Given the description of an element on the screen output the (x, y) to click on. 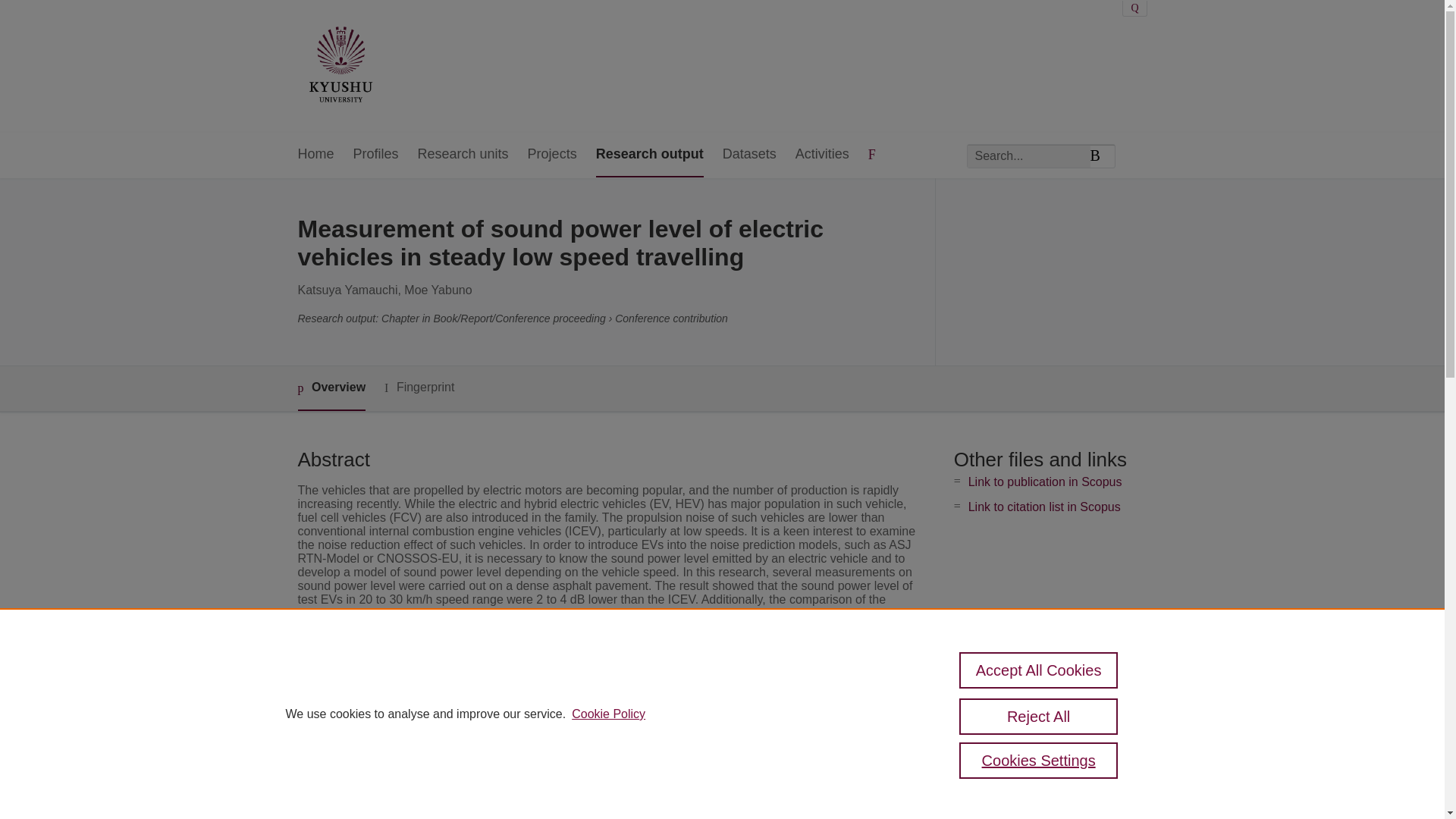
Overview (331, 388)
Projects (551, 154)
Profiles (375, 154)
Research output (649, 154)
Datasets (749, 154)
Fingerprint (419, 387)
Link to citation list in Scopus (1044, 506)
